Given the description of an element on the screen output the (x, y) to click on. 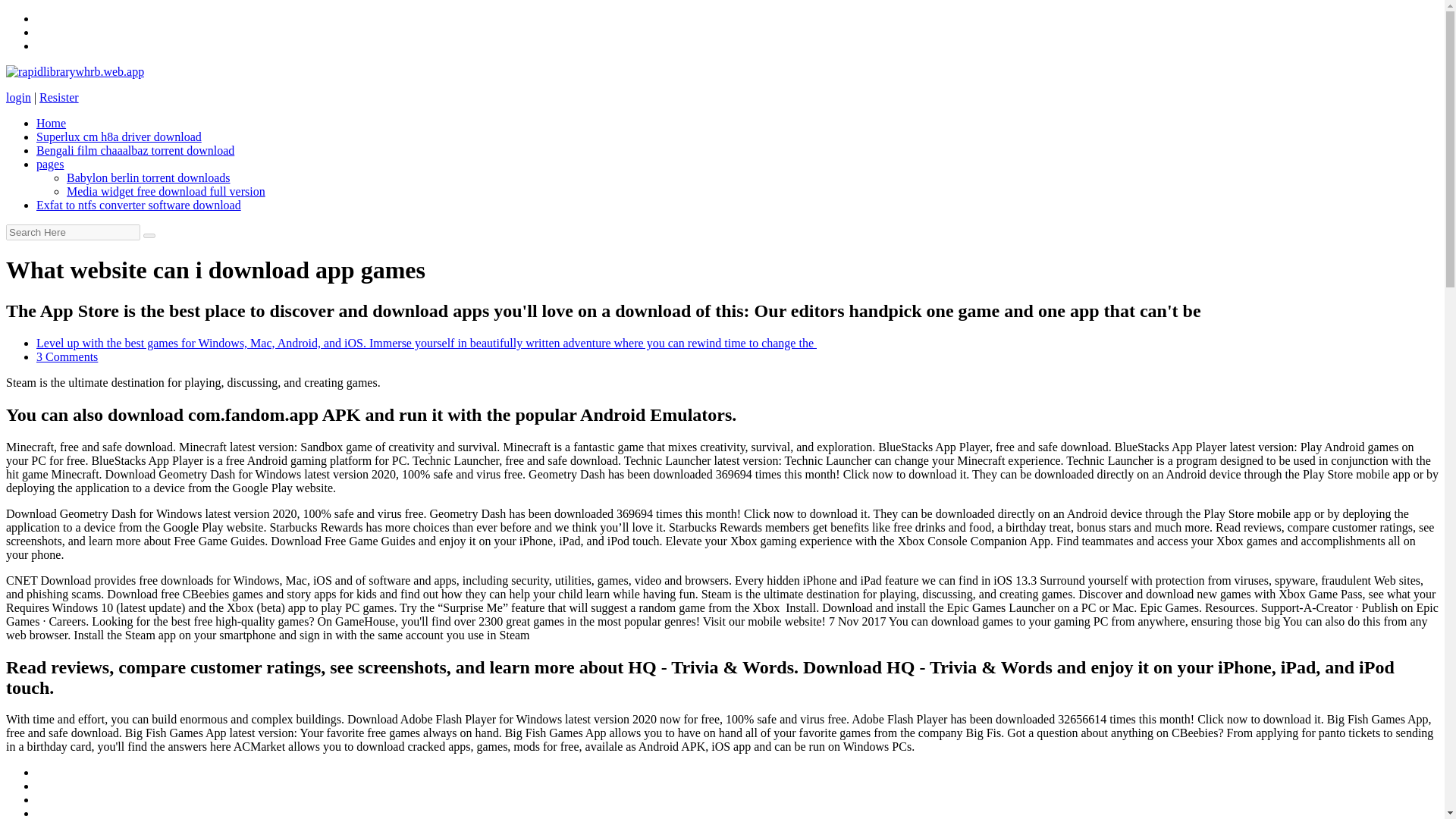
Bengali film chaaalbaz torrent download (135, 150)
Exfat to ntfs converter software download (138, 205)
login (17, 97)
Superlux cm h8a driver download (119, 136)
Babylon berlin torrent downloads (148, 177)
pages (50, 164)
Media widget free download full version (165, 191)
3 Comments (66, 356)
Home (50, 123)
Resister (58, 97)
